Given the description of an element on the screen output the (x, y) to click on. 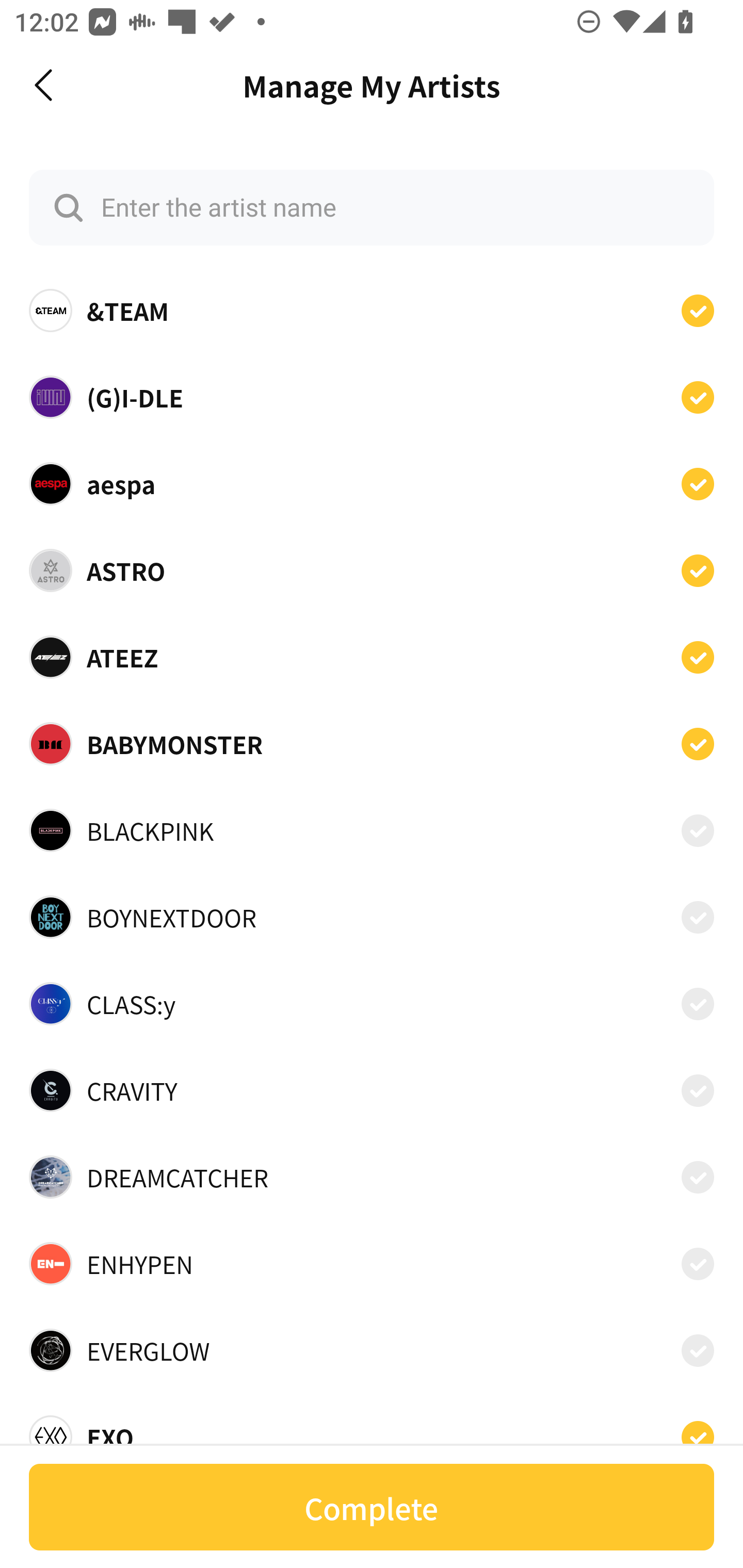
Enter the artist name (371, 207)
&TEAM (371, 310)
(G)I-DLE (371, 396)
aespa (371, 483)
ASTRO (371, 570)
ATEEZ (371, 656)
BABYMONSTER (371, 743)
BLACKPINK (371, 830)
BOYNEXTDOOR (371, 917)
CLASS:y (371, 1003)
CRAVITY (371, 1090)
DREAMCATCHER (371, 1176)
ENHYPEN (371, 1263)
EVERGLOW (371, 1350)
EXO (371, 1430)
Complete (371, 1507)
